Given the description of an element on the screen output the (x, y) to click on. 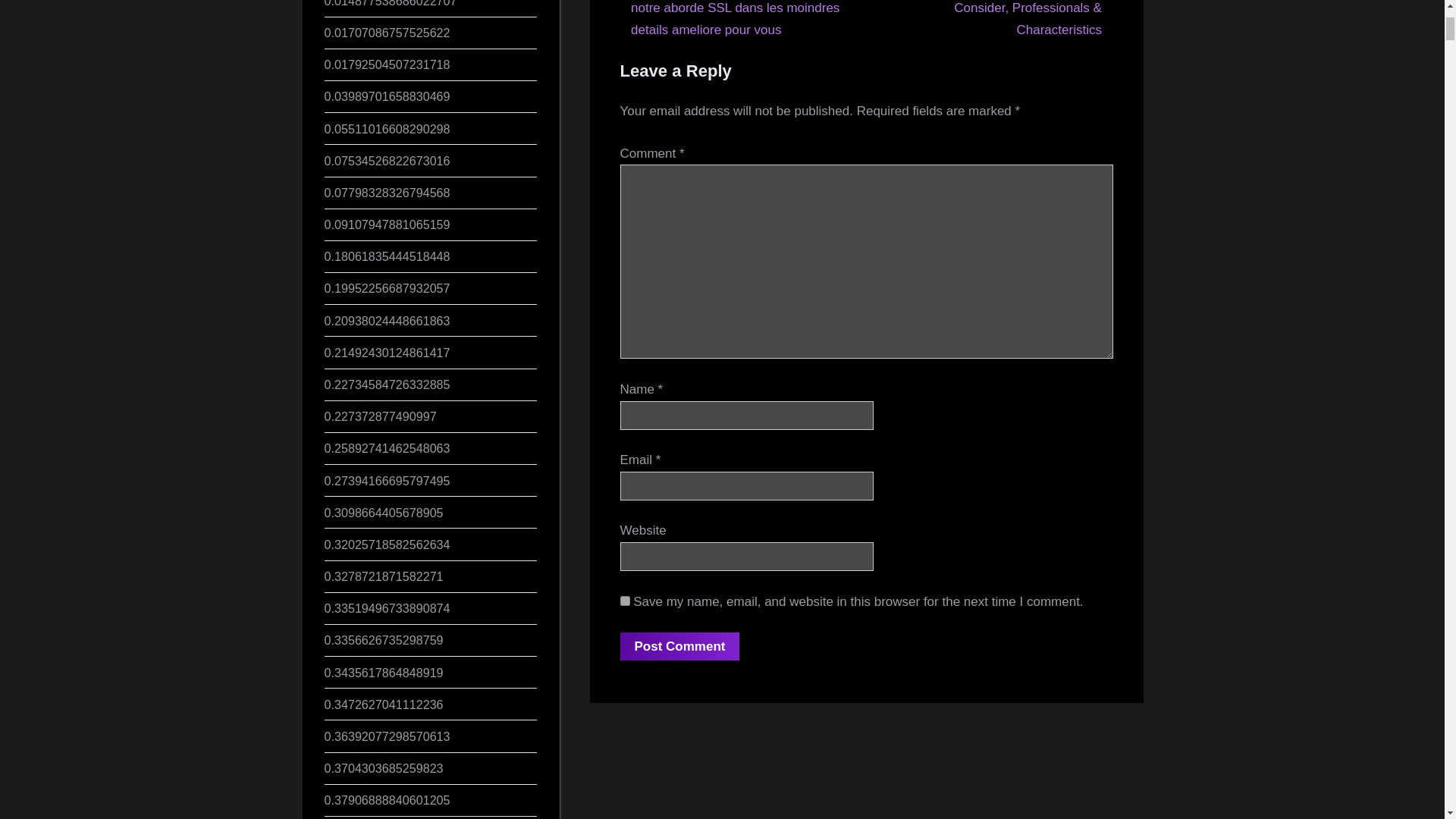
Post Comment (679, 646)
yes (625, 601)
Post Comment (679, 646)
